Given the description of an element on the screen output the (x, y) to click on. 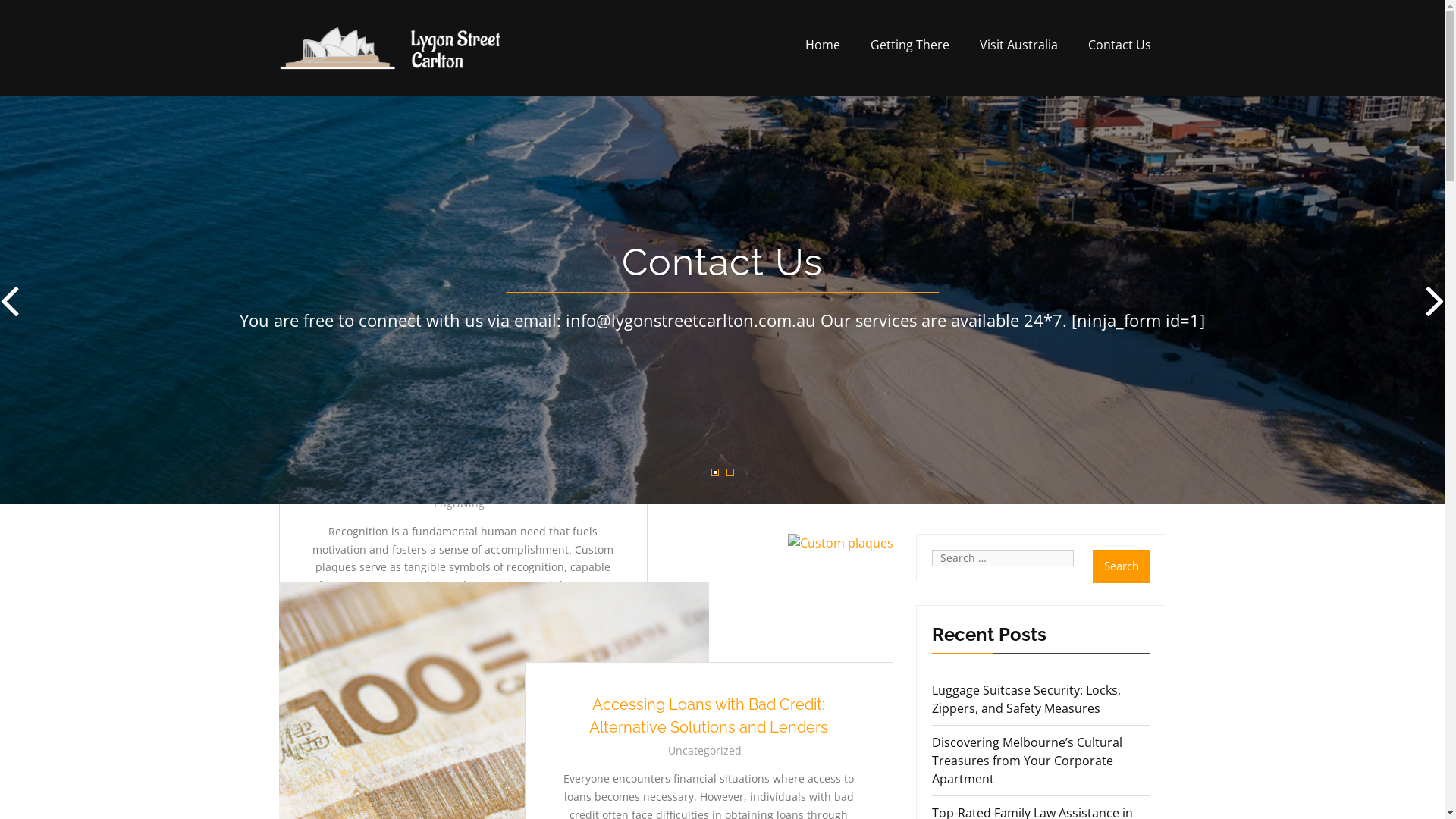
Getting There Element type: text (909, 44)
Engraving Element type: text (458, 502)
Search Element type: text (1120, 566)
Contact Us Element type: text (1118, 44)
Visit Australia Element type: text (1018, 44)
Home Element type: text (822, 44)
July 26, 2023 Element type: text (465, 631)
Uncategorized Element type: text (704, 750)
